Given the description of an element on the screen output the (x, y) to click on. 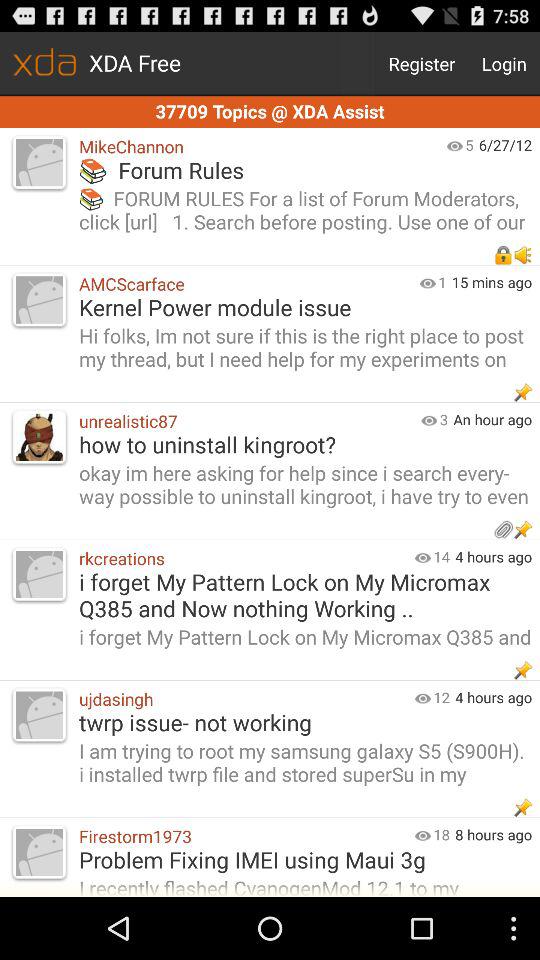
press ujdasingh app (242, 698)
